Given the description of an element on the screen output the (x, y) to click on. 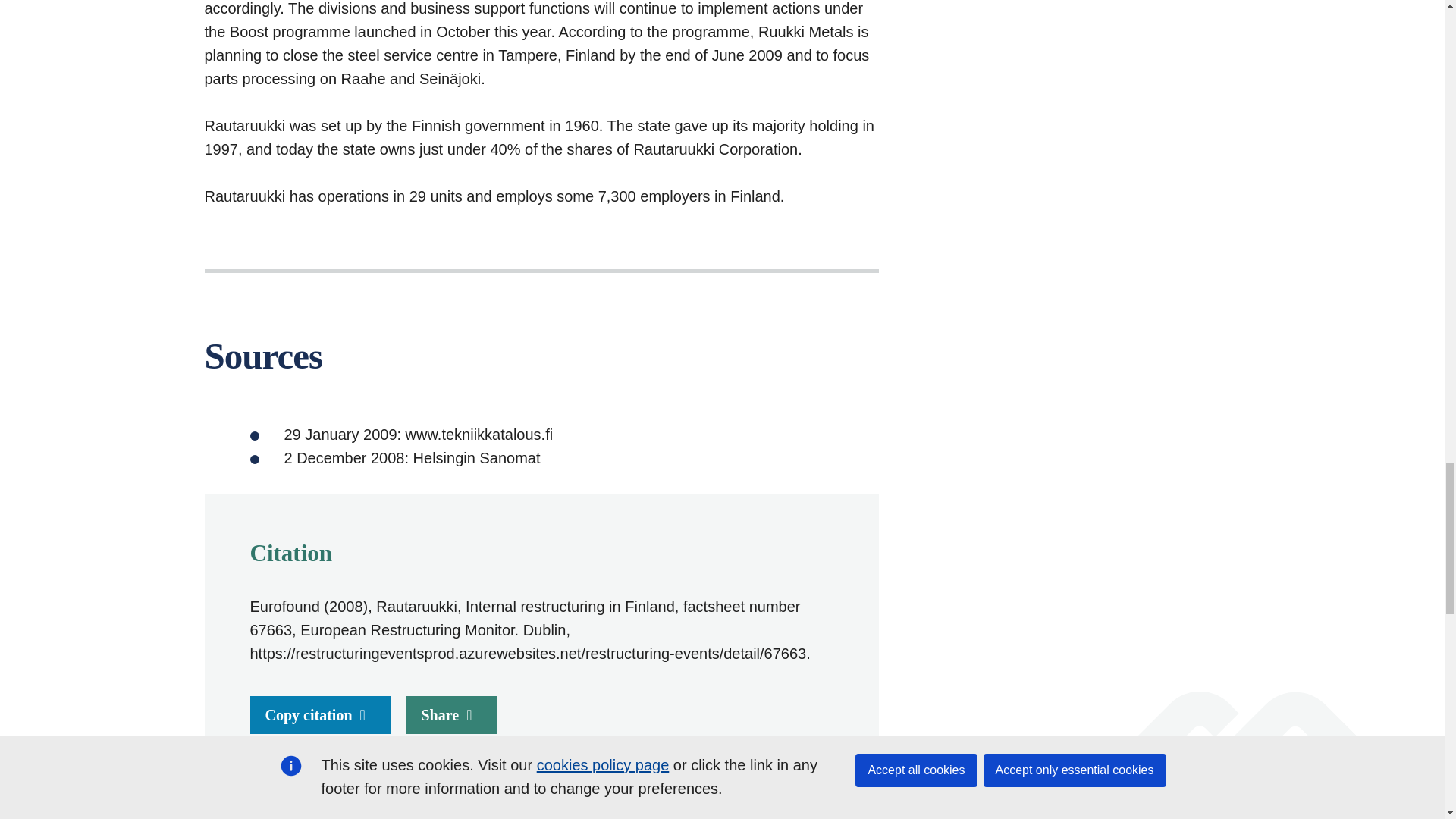
Share (451, 714)
Copy citation (320, 714)
